Given the description of an element on the screen output the (x, y) to click on. 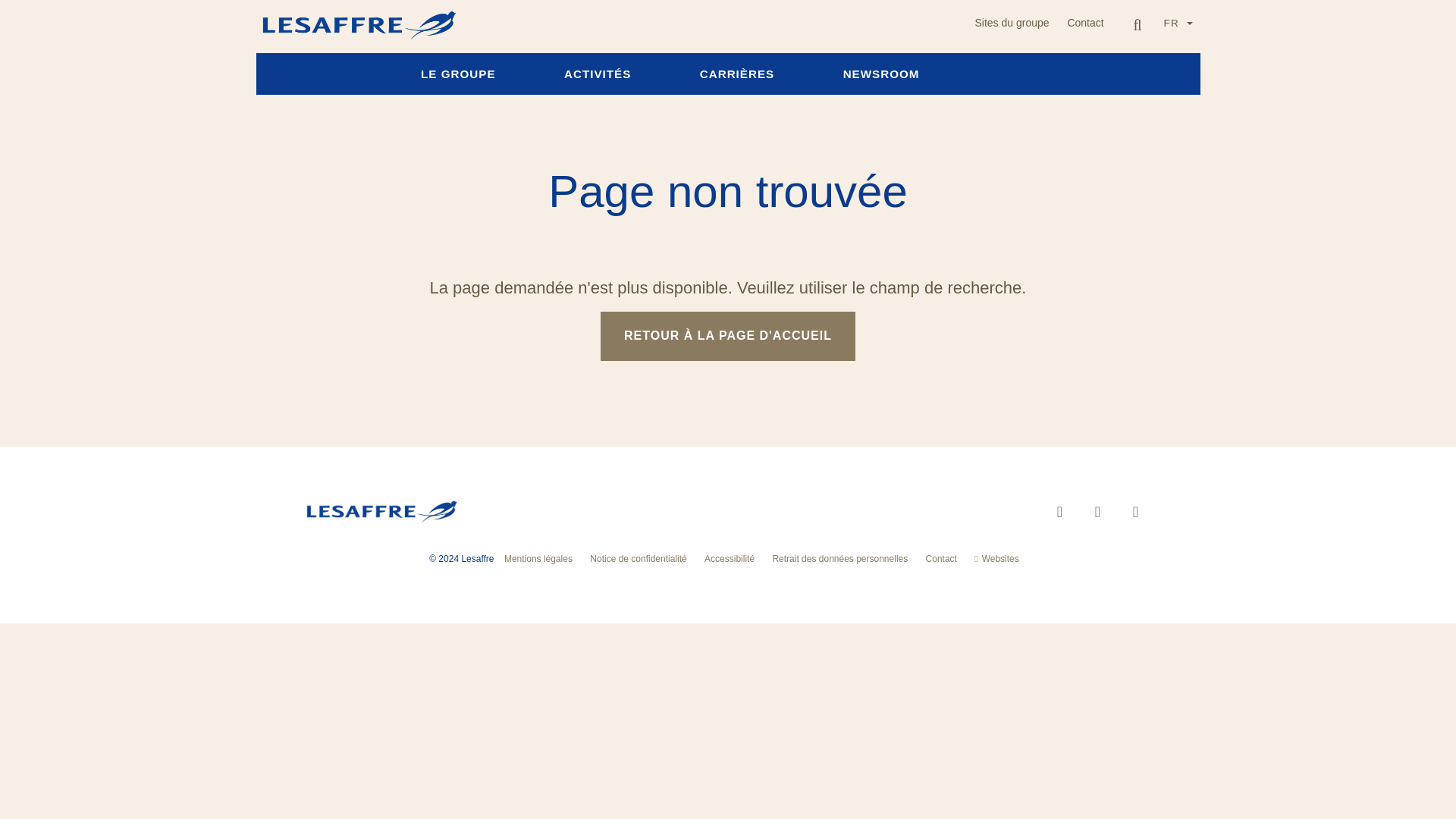
Youtube Lesaffre (1134, 511)
Contact (1084, 22)
LE GROUPE (458, 74)
Sites du groupe (1011, 22)
Twitter Lesaffre (1097, 511)
FR (1177, 23)
LinkedIn Lesaffre (1059, 511)
